Given the description of an element on the screen output the (x, y) to click on. 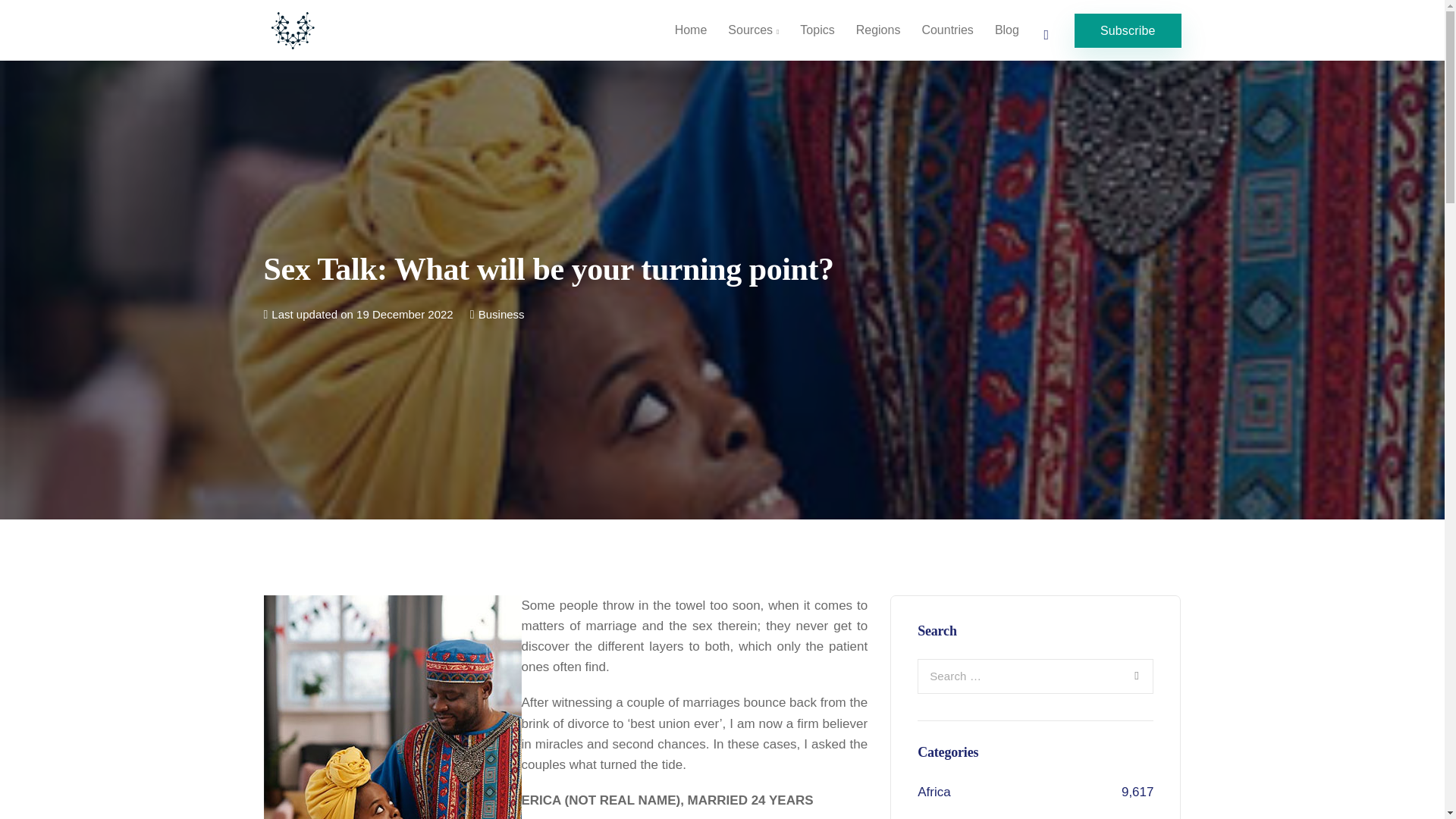
Subscribe (1127, 30)
Sources (753, 30)
Business (501, 314)
Home (690, 30)
Topics (816, 30)
Blog (1006, 30)
Countries (947, 30)
Regions (878, 30)
Africa (933, 791)
african-couple-1 (392, 707)
